Given the description of an element on the screen output the (x, y) to click on. 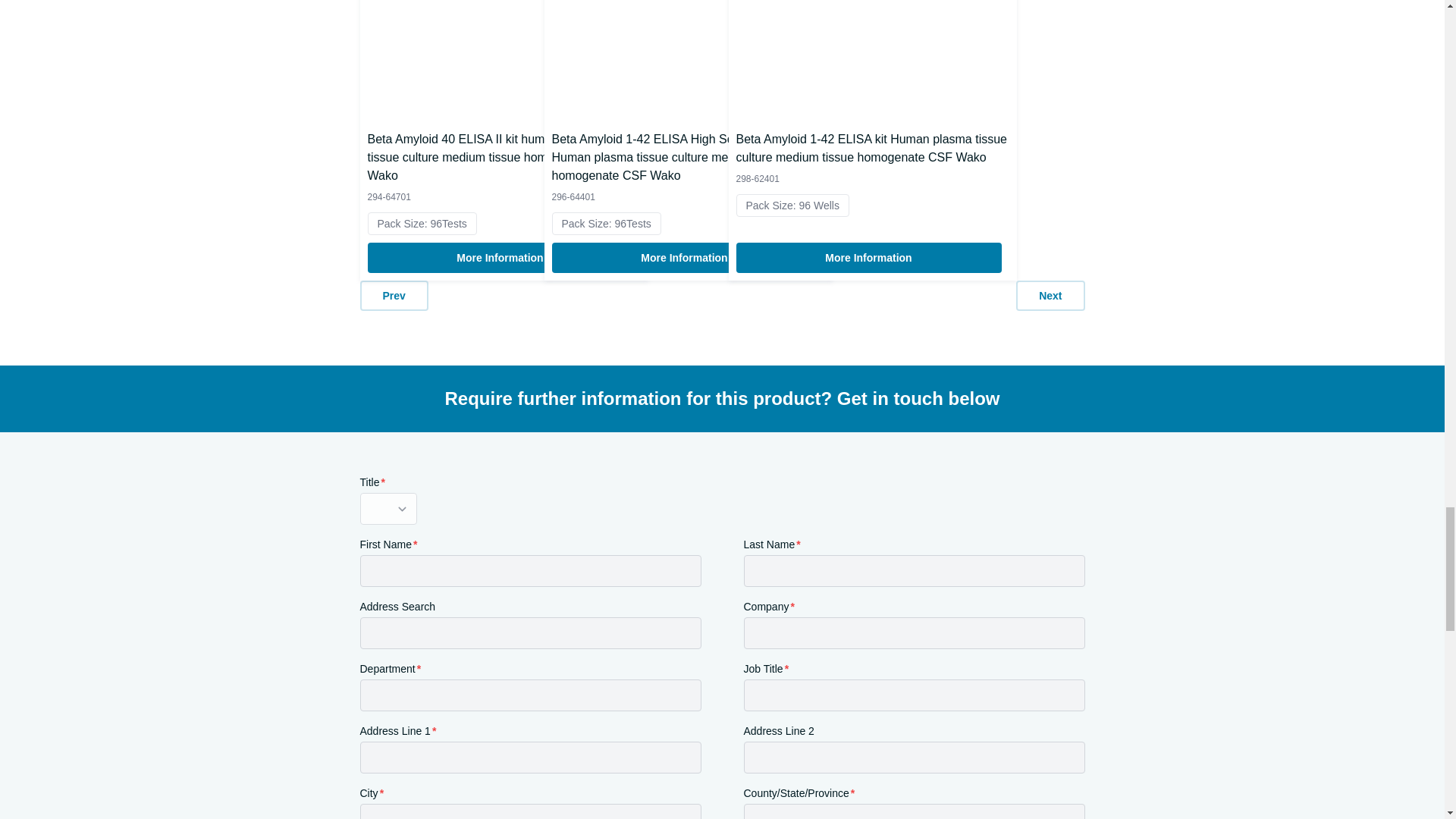
Title (387, 508)
Address Search (529, 633)
